Given the description of an element on the screen output the (x, y) to click on. 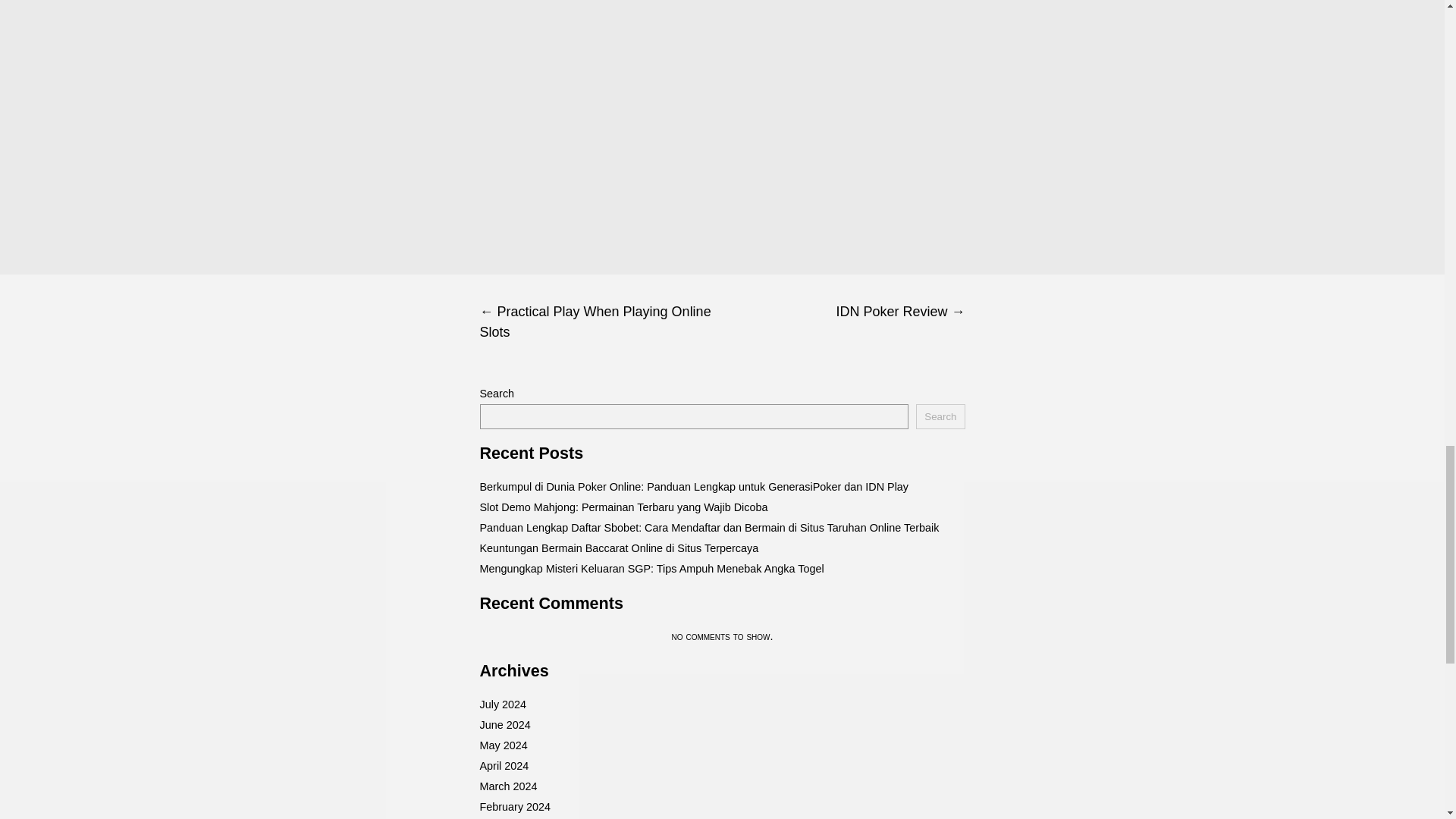
May 2024 (503, 745)
Search (939, 416)
March 2024 (508, 786)
Slot Demo Mahjong: Permainan Terbaru yang Wajib Dicoba (623, 507)
July 2024 (502, 704)
February 2024 (514, 806)
Keuntungan Bermain Baccarat Online di Situs Terpercaya (618, 548)
June 2024 (504, 725)
April 2024 (503, 766)
Practical Play When Playing Online Slots (600, 322)
IDN Poker Review (842, 311)
